Given the description of an element on the screen output the (x, y) to click on. 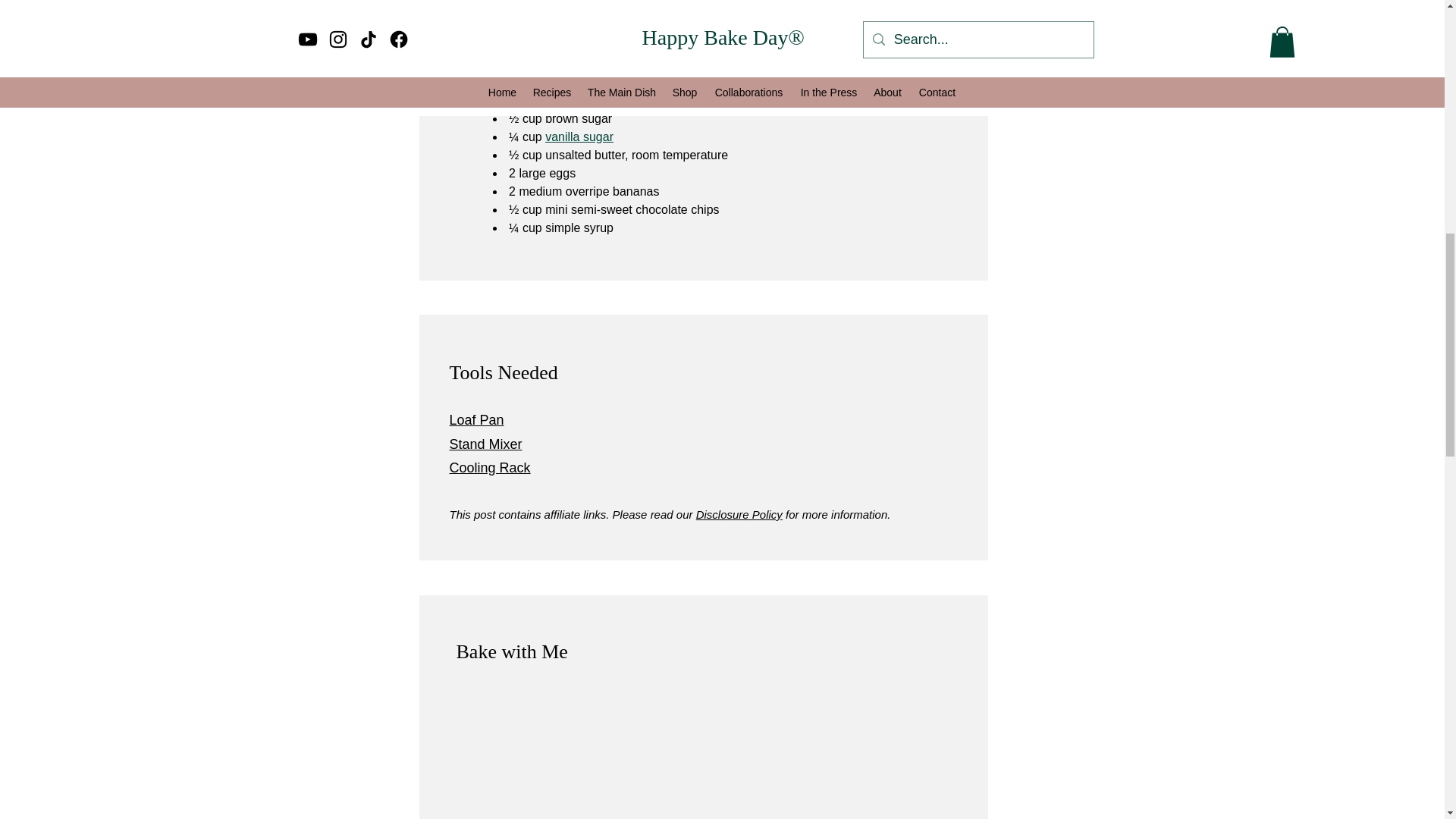
vanilla sugar (578, 136)
Disclosure Policy (739, 513)
Stand Mixer (484, 444)
Cooling Rack (488, 467)
Loaf Pan (475, 419)
